Given the description of an element on the screen output the (x, y) to click on. 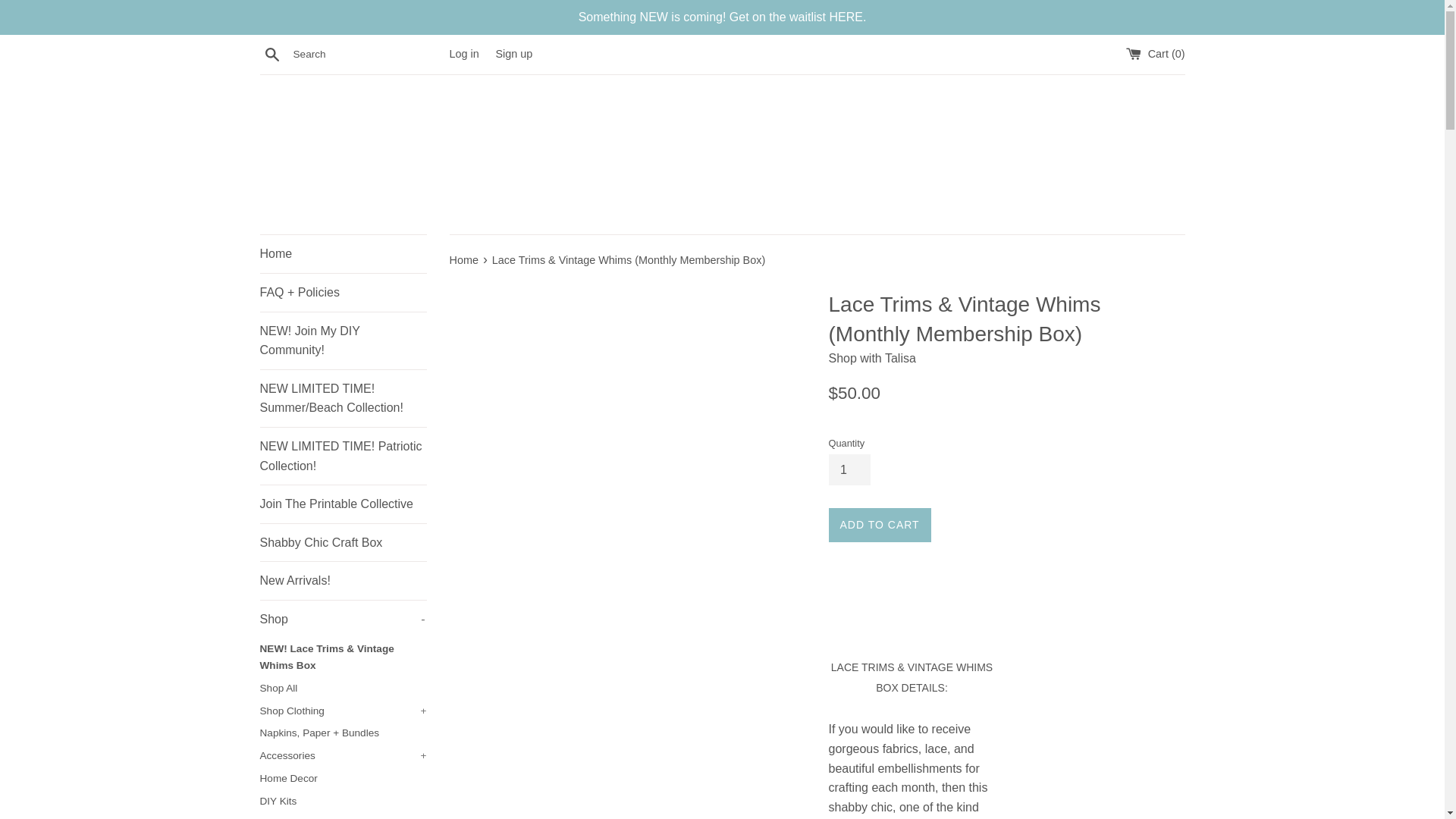
Shabby Chic Craft Box (342, 542)
Search (342, 619)
New Arrivals! (271, 53)
Home (342, 580)
NEW! Join My DIY Community! (342, 253)
Shop All (342, 340)
NEW LIMITED TIME! Patriotic Collection! (342, 688)
Back to the frontpage (342, 455)
Home Decor (464, 259)
